Given the description of an element on the screen output the (x, y) to click on. 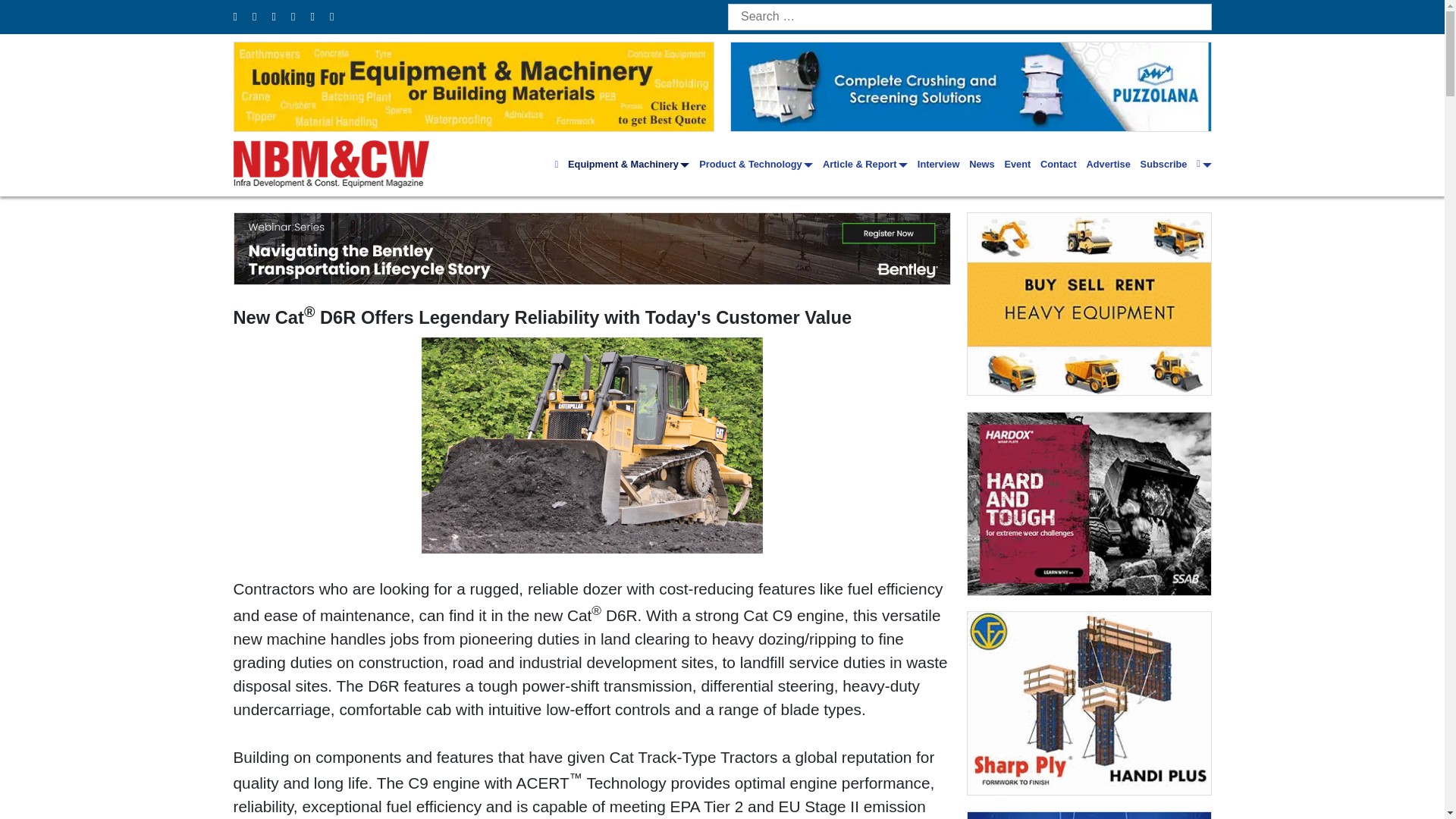
Navigating the Bentley Transportation Lifecycle Story (591, 248)
Sharp Ply - Formwork to finish (1089, 702)
Puzzolana - Complete Crushing and Screening Solutions (970, 86)
Kone - DX Class Elevator (1089, 815)
Infrabazaar - One STOP SHOP for all your INFRA needs (1089, 303)
